Given the description of an element on the screen output the (x, y) to click on. 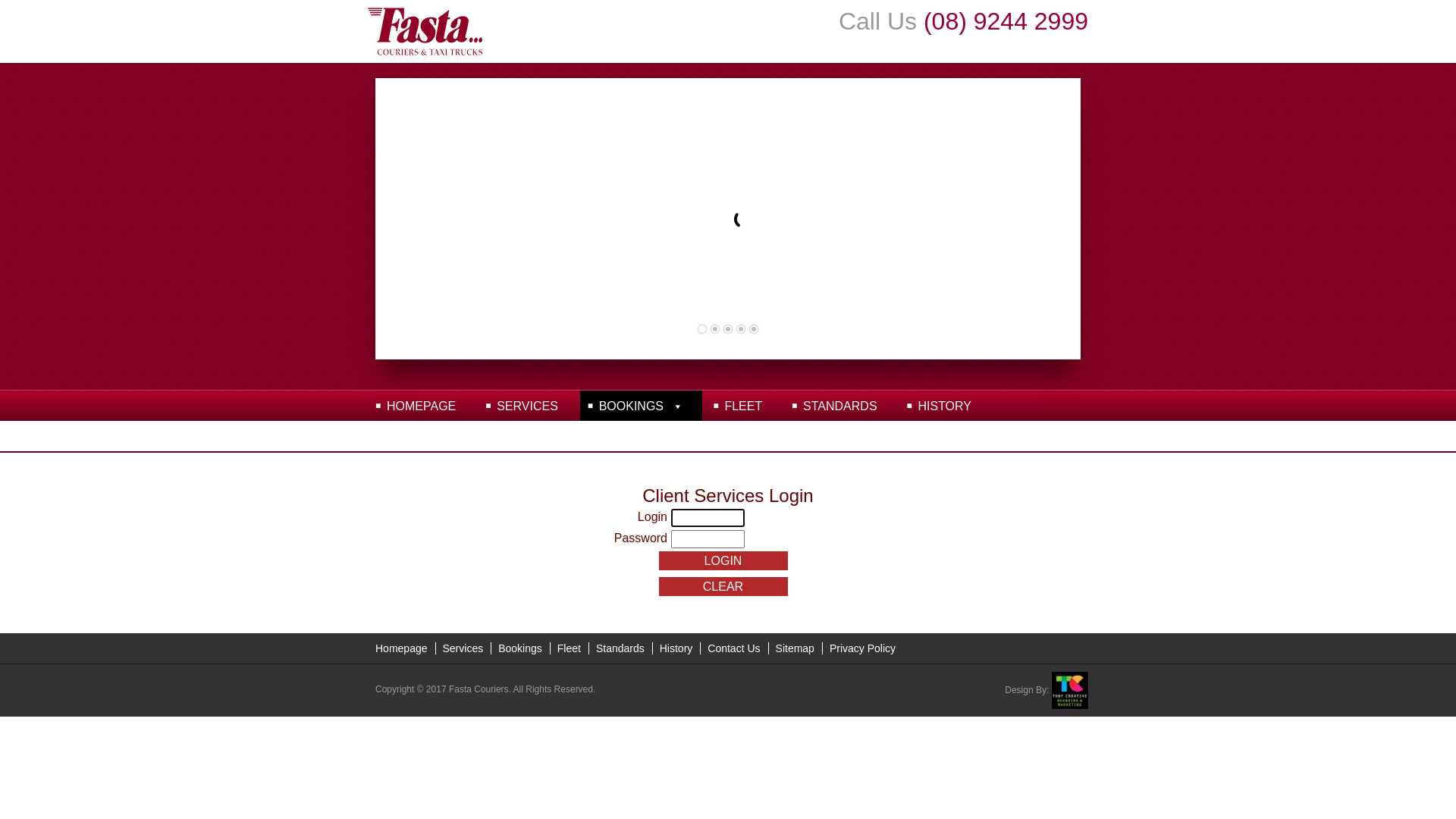
HOMEPAGE Element type: text (420, 405)
BOOKINGS Element type: text (641, 405)
(08) 9244 2999 Element type: text (1005, 20)
Privacy Policy Element type: text (862, 648)
HISTORY Element type: text (944, 405)
History Element type: text (676, 648)
SERVICES Element type: text (527, 405)
STANDARDS Element type: text (840, 405)
Contact Us Element type: text (733, 648)
Fleet Element type: text (568, 648)
LOGIN Element type: text (722, 560)
Services Element type: text (463, 648)
Bookings Element type: text (519, 648)
Standards Element type: text (620, 648)
FLEET Element type: text (743, 405)
Homepage Element type: text (401, 648)
CLEAR Element type: text (722, 586)
Design By: Element type: text (1046, 689)
Sitemap Element type: text (795, 648)
CONTACT US Element type: text (425, 435)
